Given the description of an element on the screen output the (x, y) to click on. 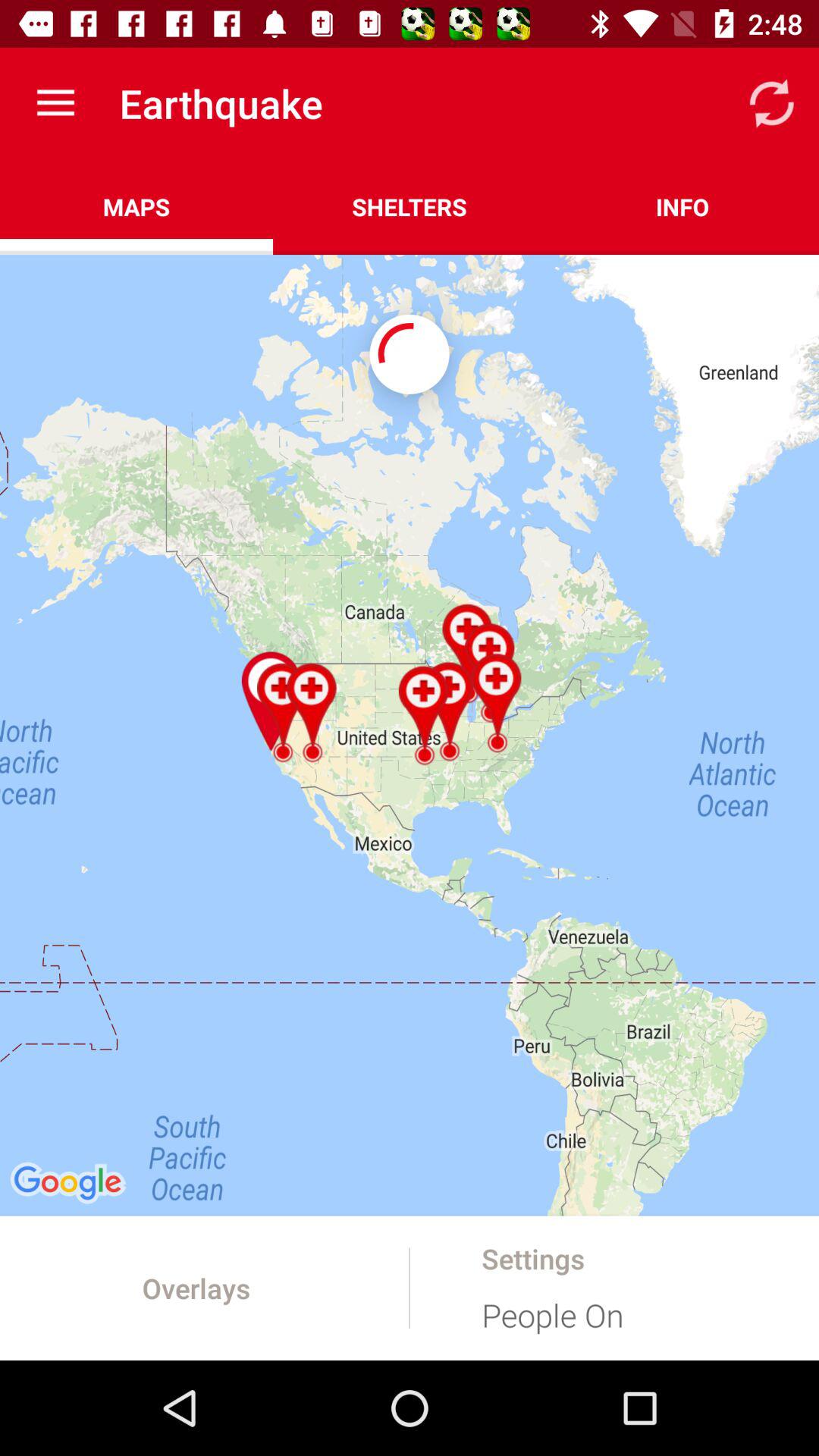
press maps icon (136, 206)
